Given the description of an element on the screen output the (x, y) to click on. 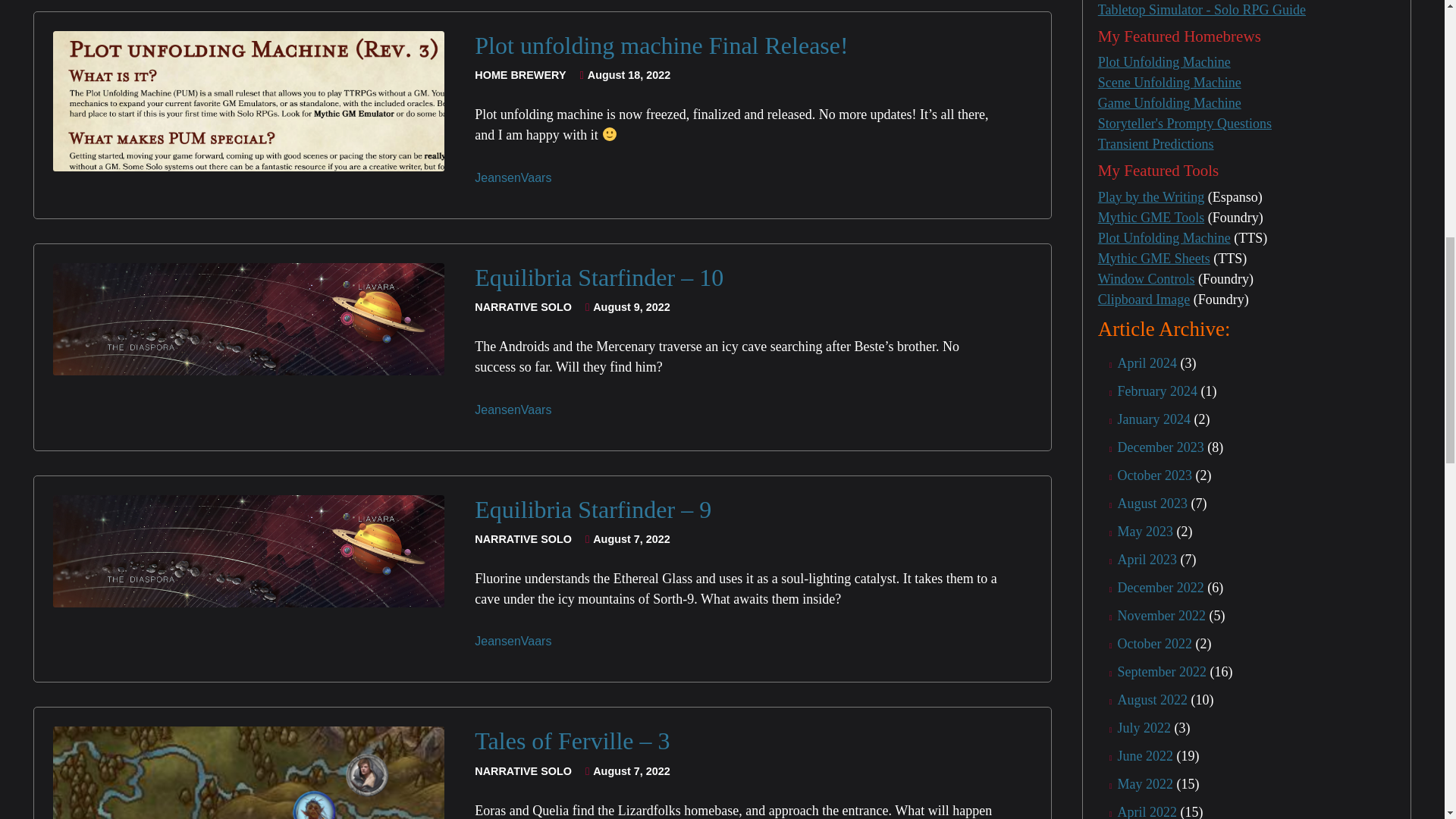
Plot unfolding machine Final Release! (660, 44)
HOME BREWERY (522, 75)
